Given the description of an element on the screen output the (x, y) to click on. 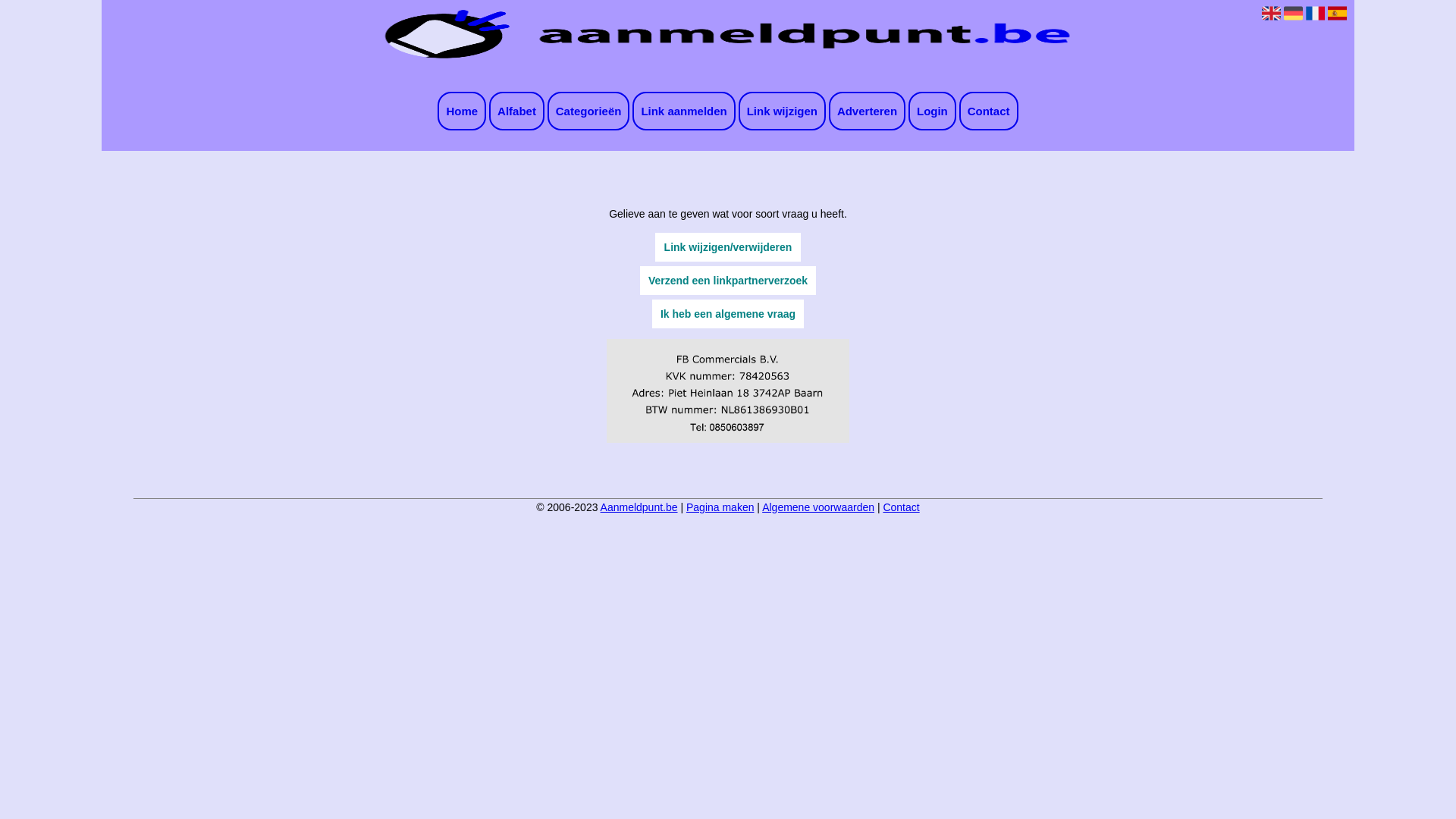
Link wijzigen/verwijderen Element type: text (727, 246)
Contact Element type: text (900, 507)
Pagina maken Element type: text (720, 507)
Alfabet Element type: text (516, 110)
Link aanmelden Element type: text (683, 110)
Verzend een linkpartnerverzoek Element type: text (727, 280)
Aanmeldpunt.be Element type: text (638, 507)
Login Element type: text (932, 110)
Adverteren Element type: text (866, 110)
Link wijzigen Element type: text (781, 110)
Algemene voorwaarden Element type: text (818, 507)
Home Element type: text (461, 110)
Contact Element type: text (988, 110)
Ik heb een algemene vraag Element type: text (728, 313)
